Given the description of an element on the screen output the (x, y) to click on. 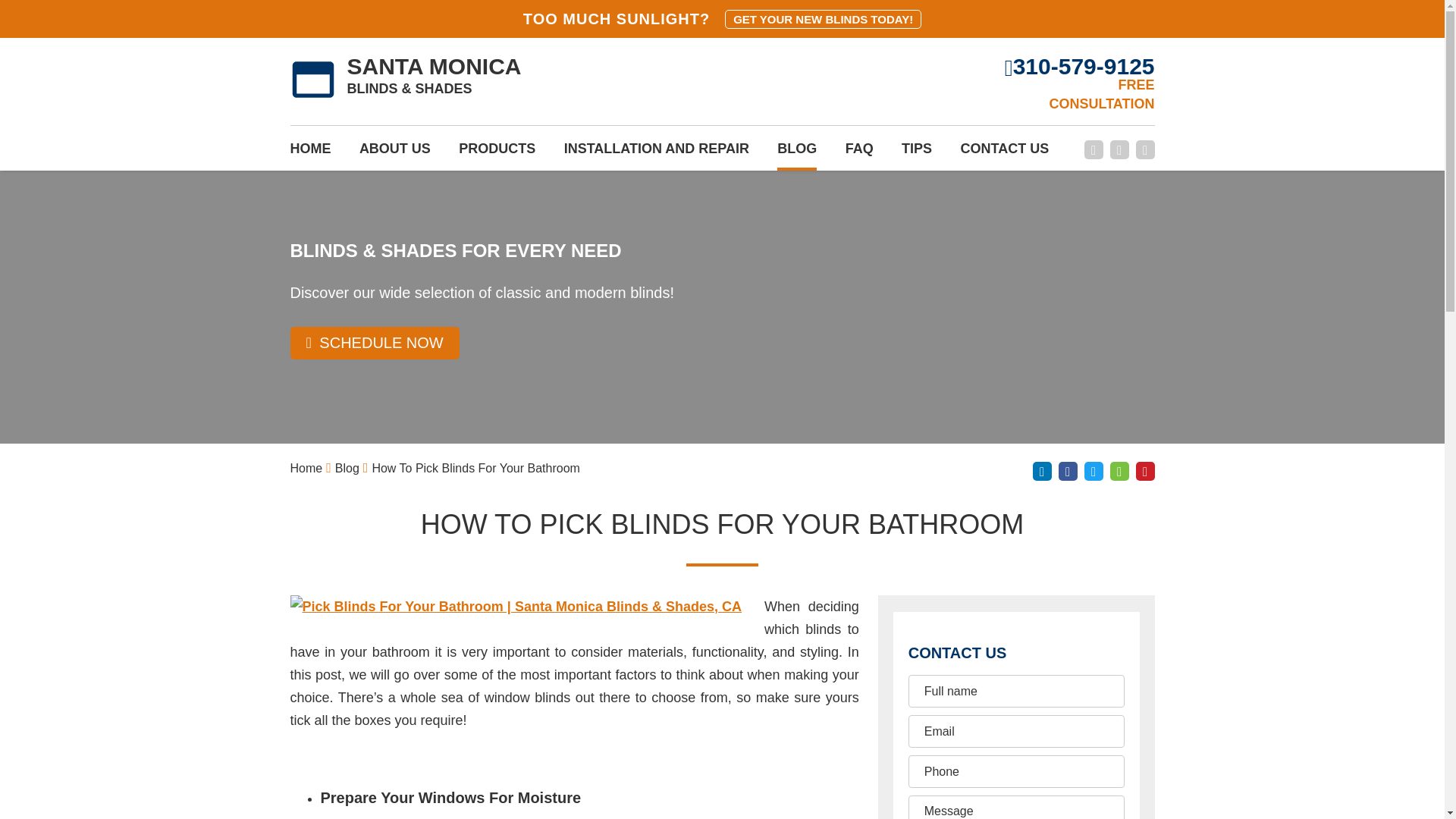
Instagram (1144, 149)
Houzz (1119, 470)
Linkedin (1041, 470)
CONTACT US (1003, 153)
YouTube (1119, 149)
Facebook (1067, 470)
Click here to enter Home page (305, 468)
ABOUT US (394, 153)
Facebook (1093, 149)
BLOG (796, 153)
